Given the description of an element on the screen output the (x, y) to click on. 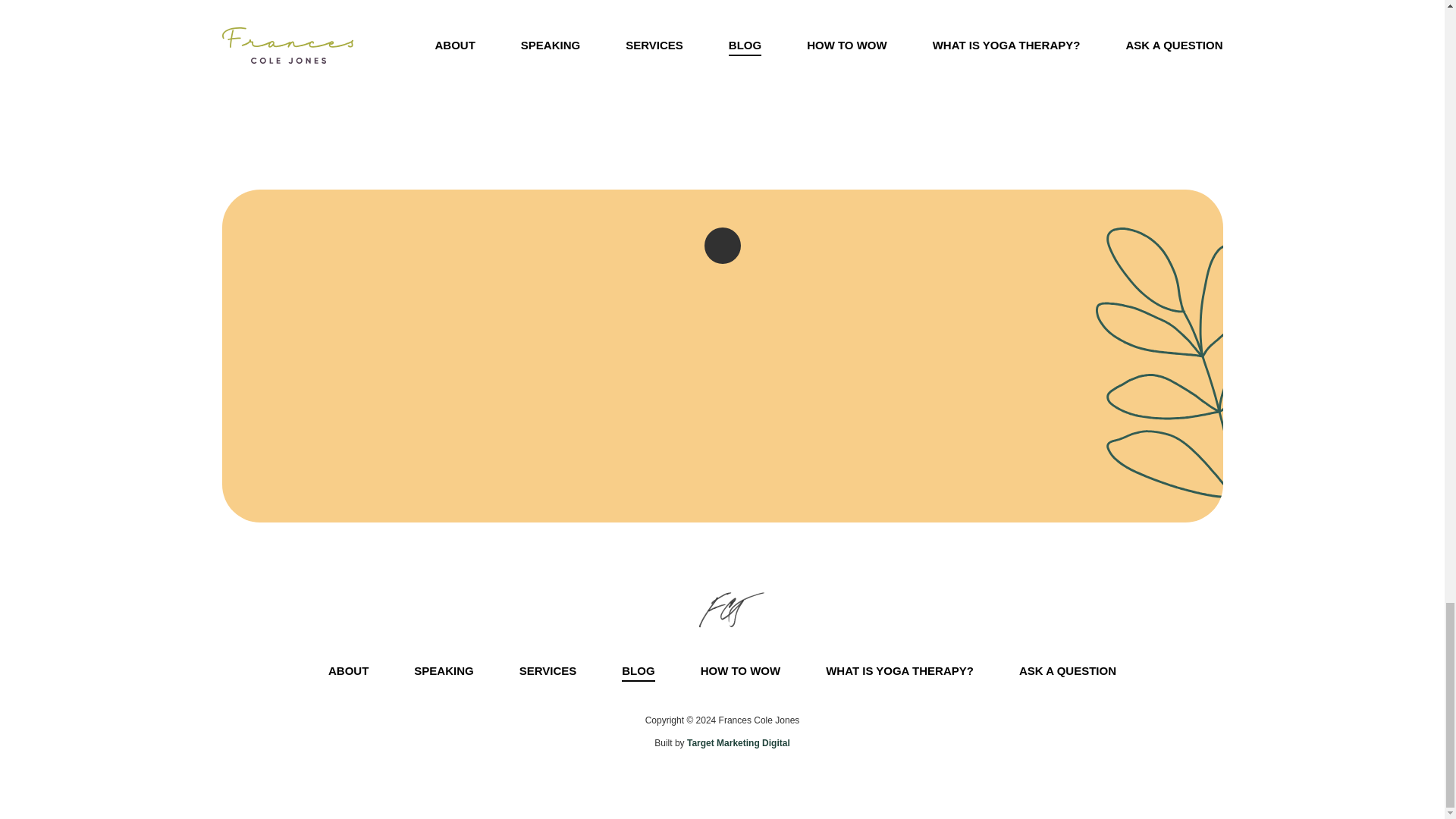
ASK A QUESTION (1067, 670)
SERVICES (547, 670)
Frances Cole Jones (722, 609)
SPEAKING (443, 670)
WHAT IS YOGA THERAPY? (899, 670)
Target Marketing Digital (738, 742)
ABOUT (348, 670)
HOW TO WOW (740, 670)
BLOG (637, 670)
Frances Cole Jones (722, 609)
